Given the description of an element on the screen output the (x, y) to click on. 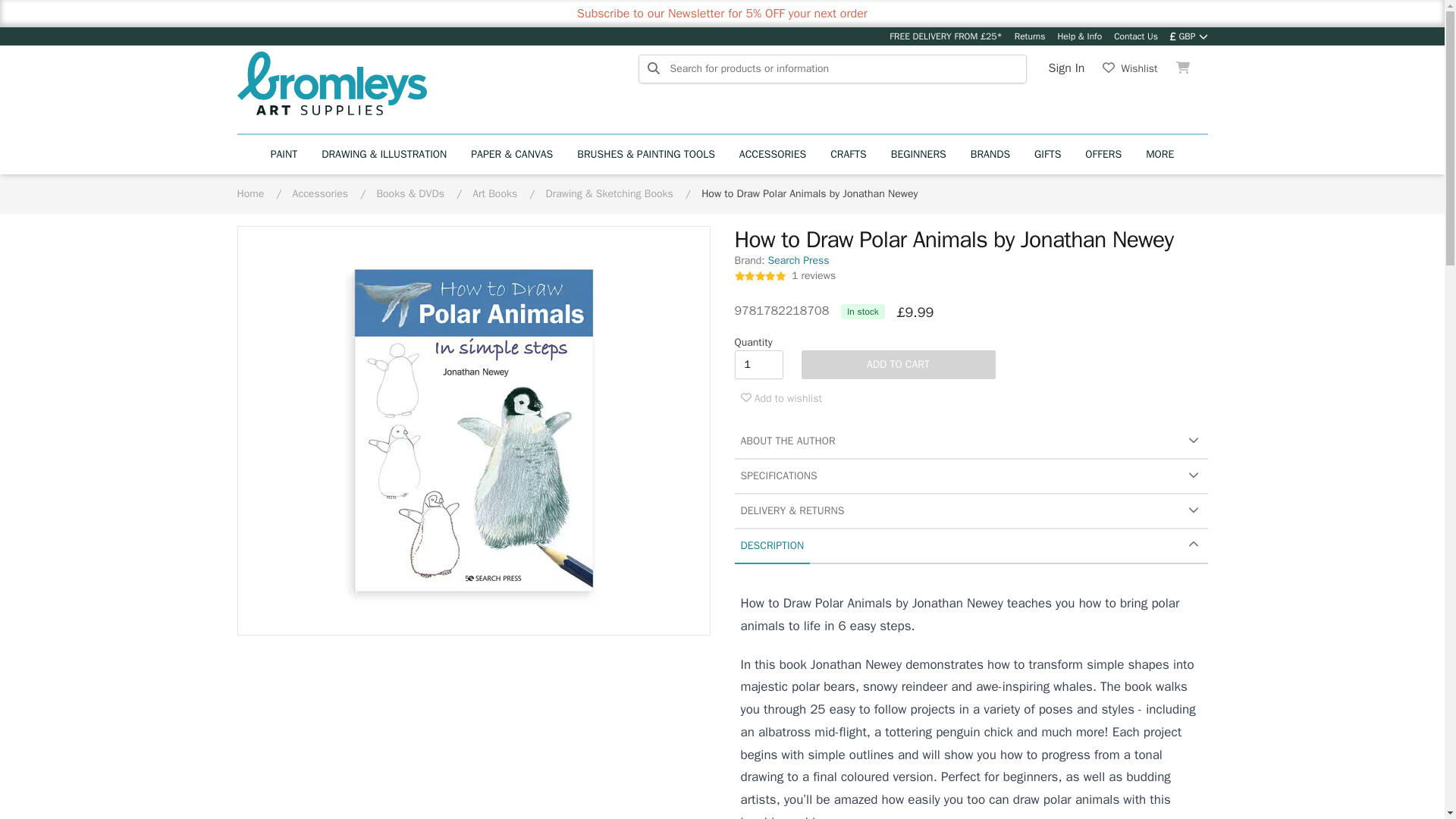
1 (758, 364)
Sign In (1066, 68)
cart (1183, 68)
GBP (1189, 36)
PAINT (284, 154)
Returns (1029, 36)
Add to wishlist (780, 398)
Subscribe to our Newsletter (649, 13)
wishlist (1129, 68)
Contact Us (1135, 36)
Wishlist (1129, 68)
